Given the description of an element on the screen output the (x, y) to click on. 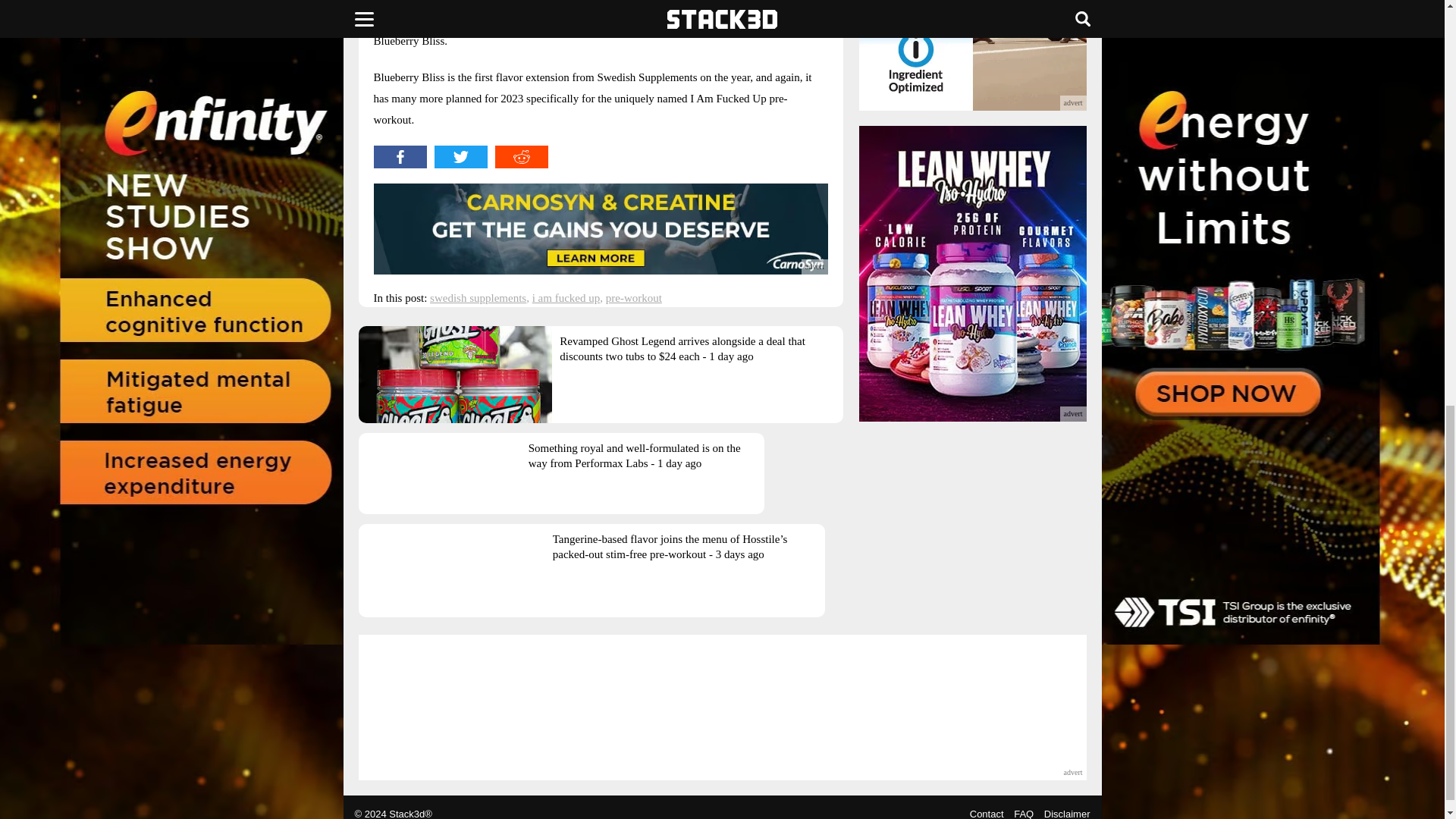
pre-workout (633, 297)
swedish supplements (477, 297)
i am fucked up (565, 297)
